Given the description of an element on the screen output the (x, y) to click on. 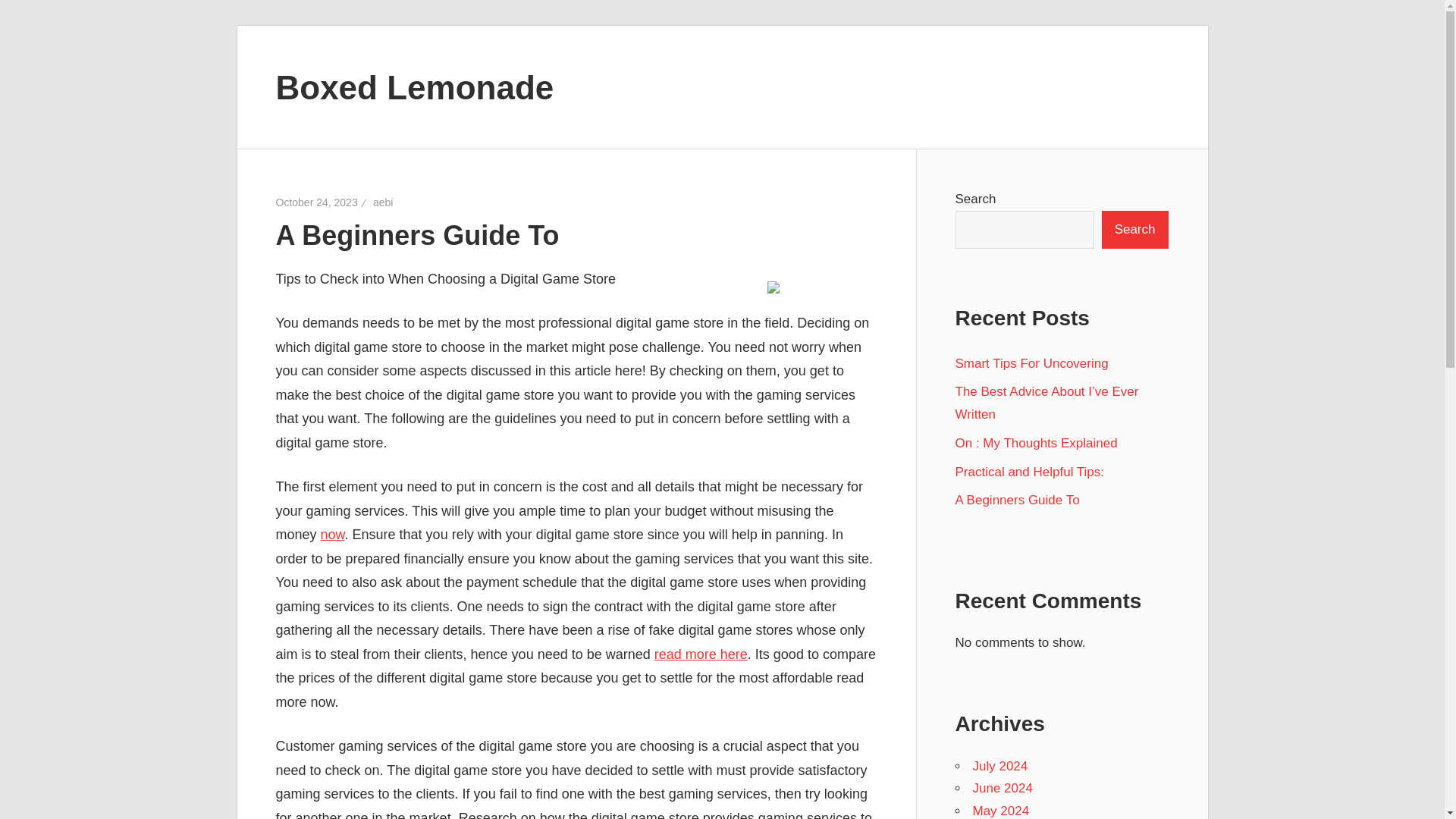
now (332, 534)
Practical and Helpful Tips: (1030, 472)
On : My Thoughts Explained (1036, 442)
View all posts by aebi (382, 202)
June 2024 (1002, 788)
Search (1135, 229)
read more here (700, 654)
7:43 am (317, 202)
Smart Tips For Uncovering (1031, 363)
October 24, 2023 (317, 202)
Boxed Lemonade (415, 86)
A Beginners Guide To (1017, 499)
May 2024 (1000, 810)
July 2024 (999, 766)
